Given the description of an element on the screen output the (x, y) to click on. 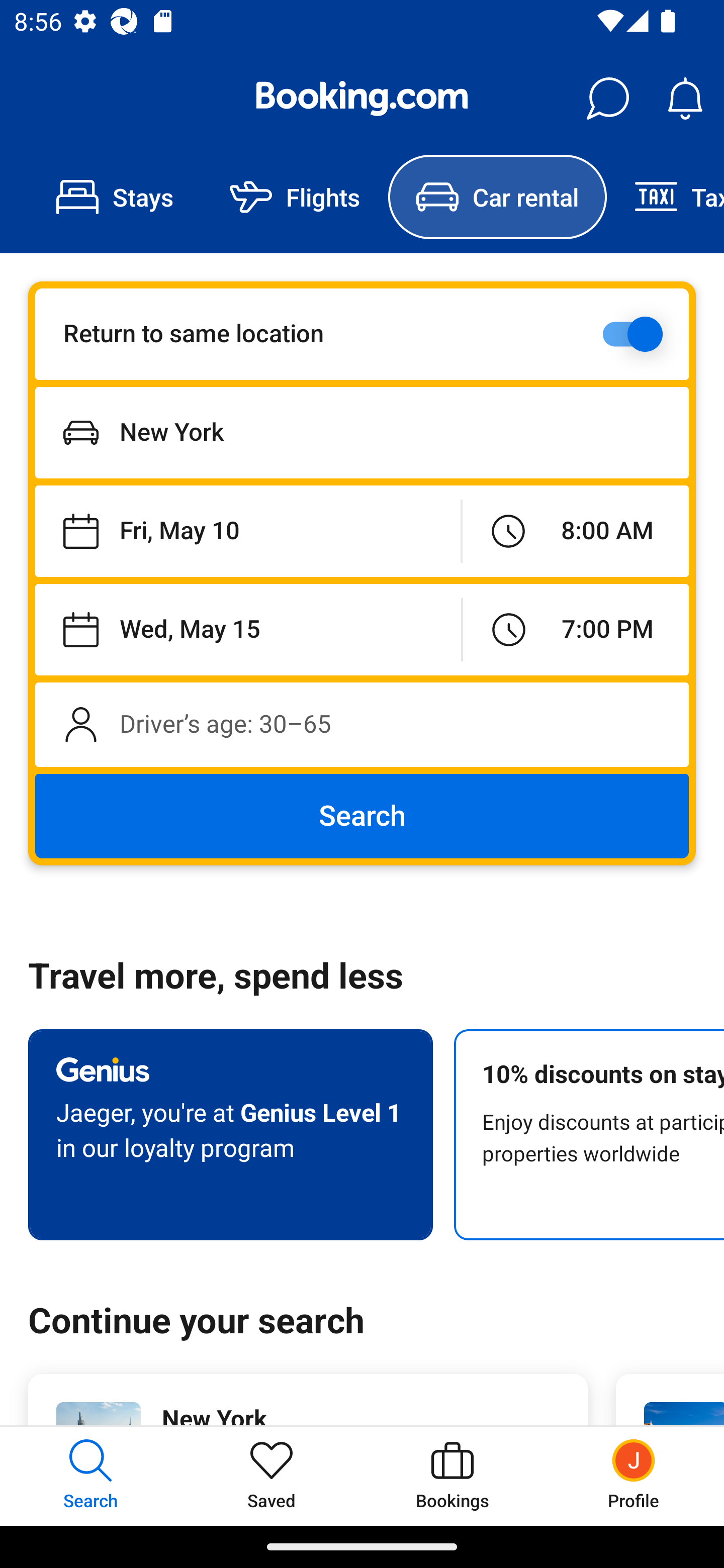
Messages (607, 98)
Notifications (685, 98)
Stays (114, 197)
Flights (294, 197)
Car rental (497, 197)
Taxi (665, 197)
Pick-up location: Text(name=New York) (361, 432)
Pick-up date: 2024-05-10 (247, 531)
Pick-up time: 08:00:00.000 (575, 531)
Drop-off date: 2024-05-15 (248, 629)
Drop-off time: 19:00:00.000 (575, 629)
Enter the driver's age (361, 724)
Search (361, 815)
Saved (271, 1475)
Bookings (452, 1475)
Profile (633, 1475)
